Given the description of an element on the screen output the (x, y) to click on. 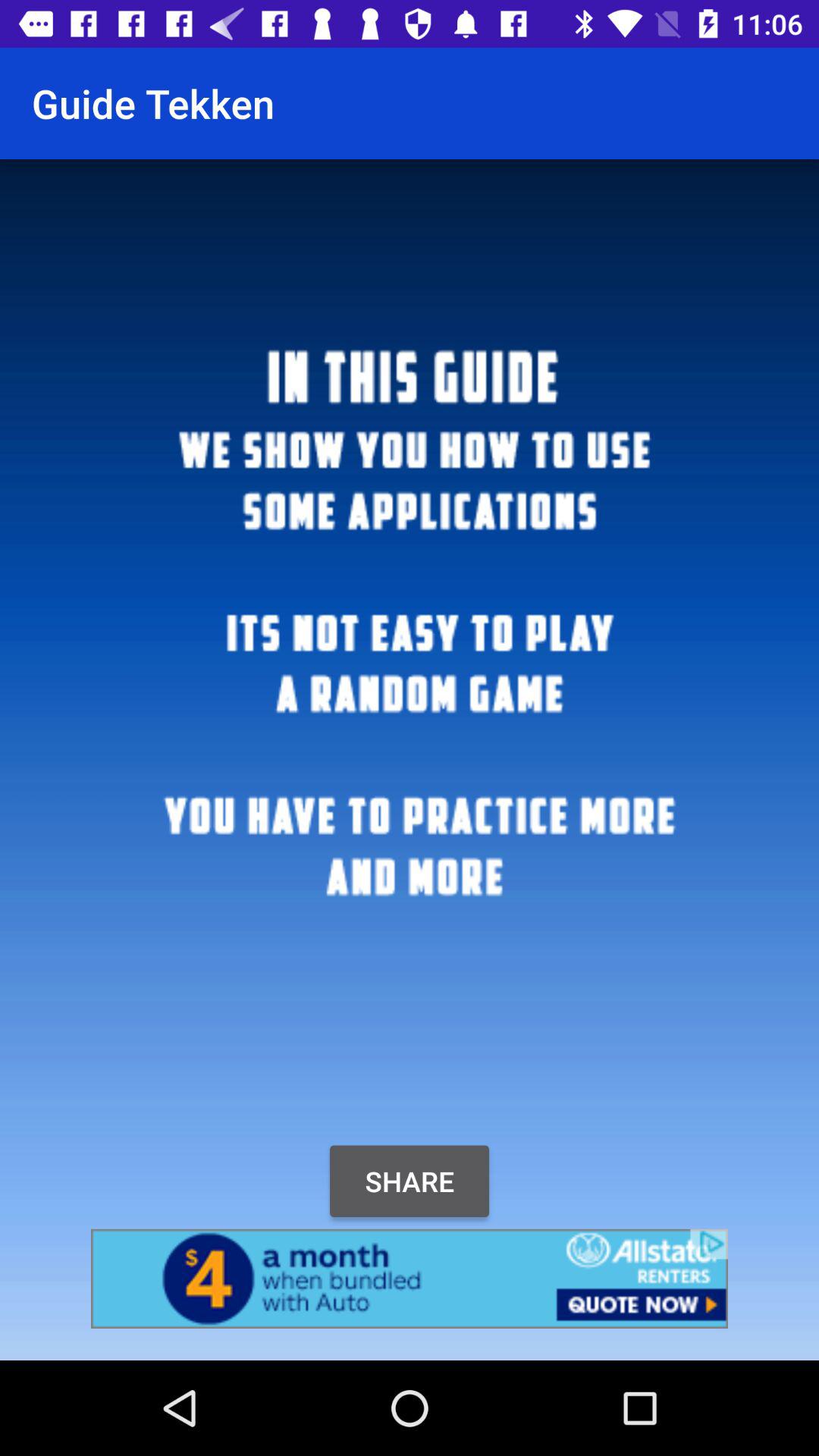
connect to advertisement (409, 1278)
